Given the description of an element on the screen output the (x, y) to click on. 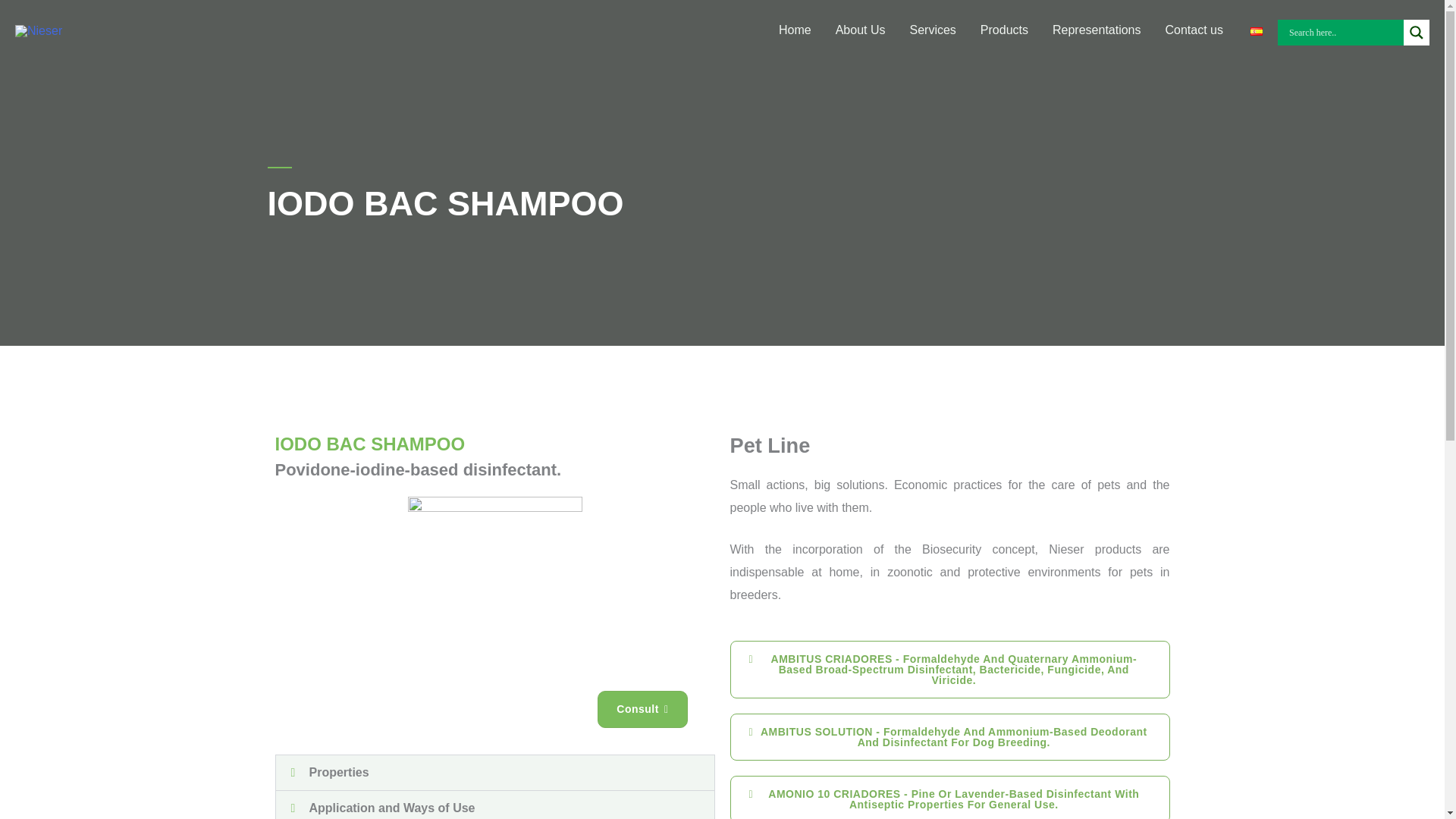
Home (795, 30)
Contact us (1193, 30)
Properties (338, 771)
Products (1004, 30)
About Us (861, 30)
Services (933, 30)
Representations (1097, 30)
